Given the description of an element on the screen output the (x, y) to click on. 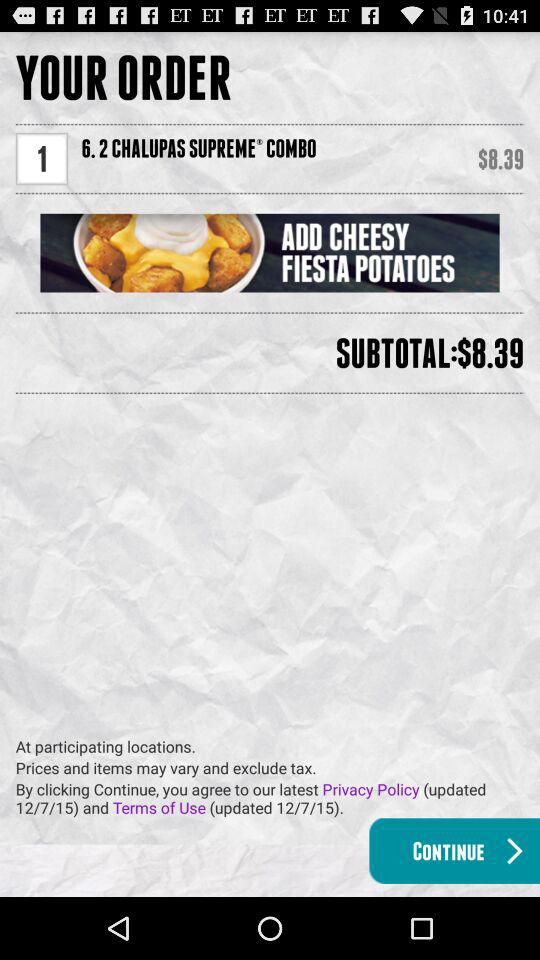
turn on by clicking continue icon (277, 798)
